Given the description of an element on the screen output the (x, y) to click on. 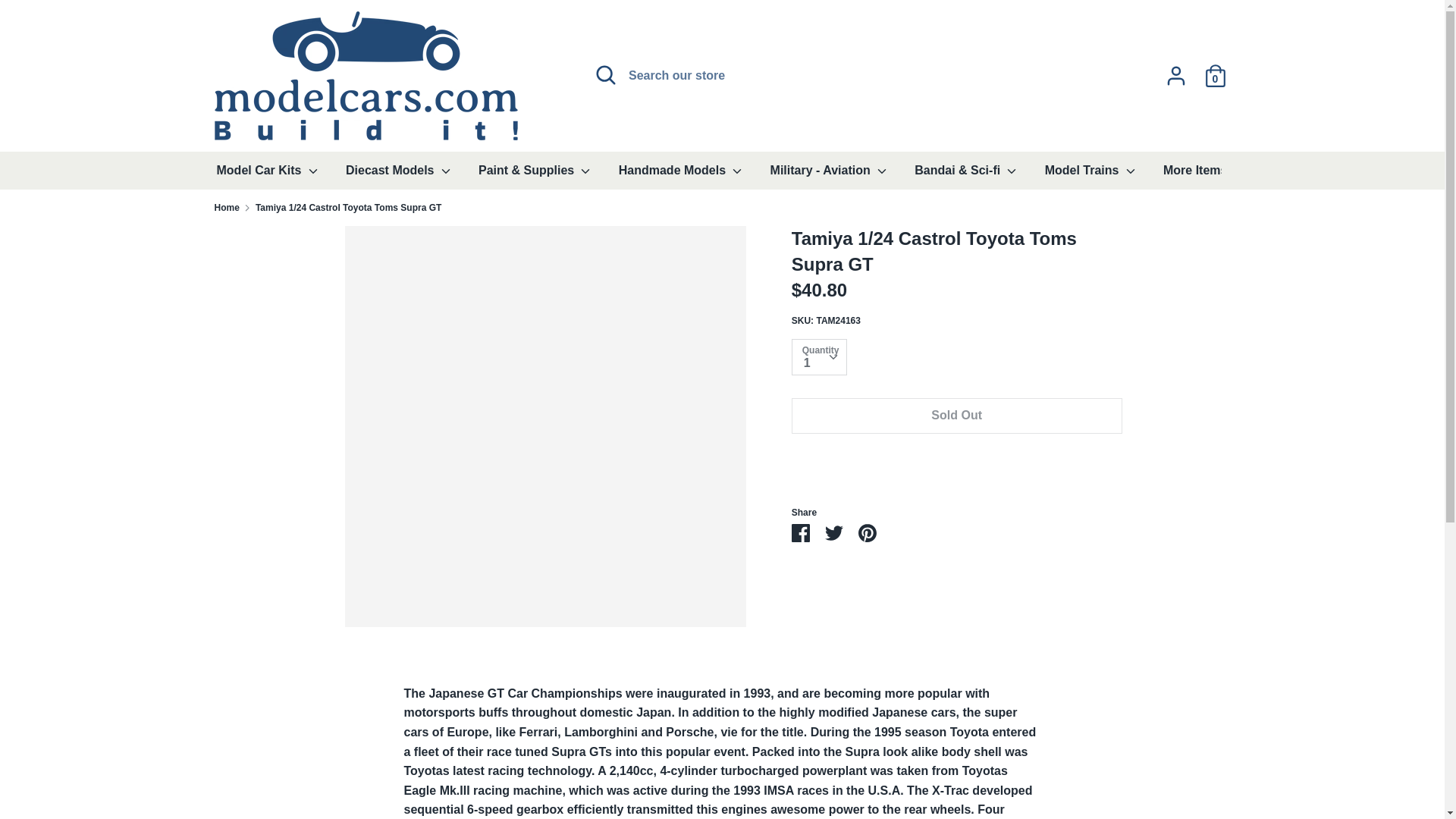
0 (1214, 69)
